Given the description of an element on the screen output the (x, y) to click on. 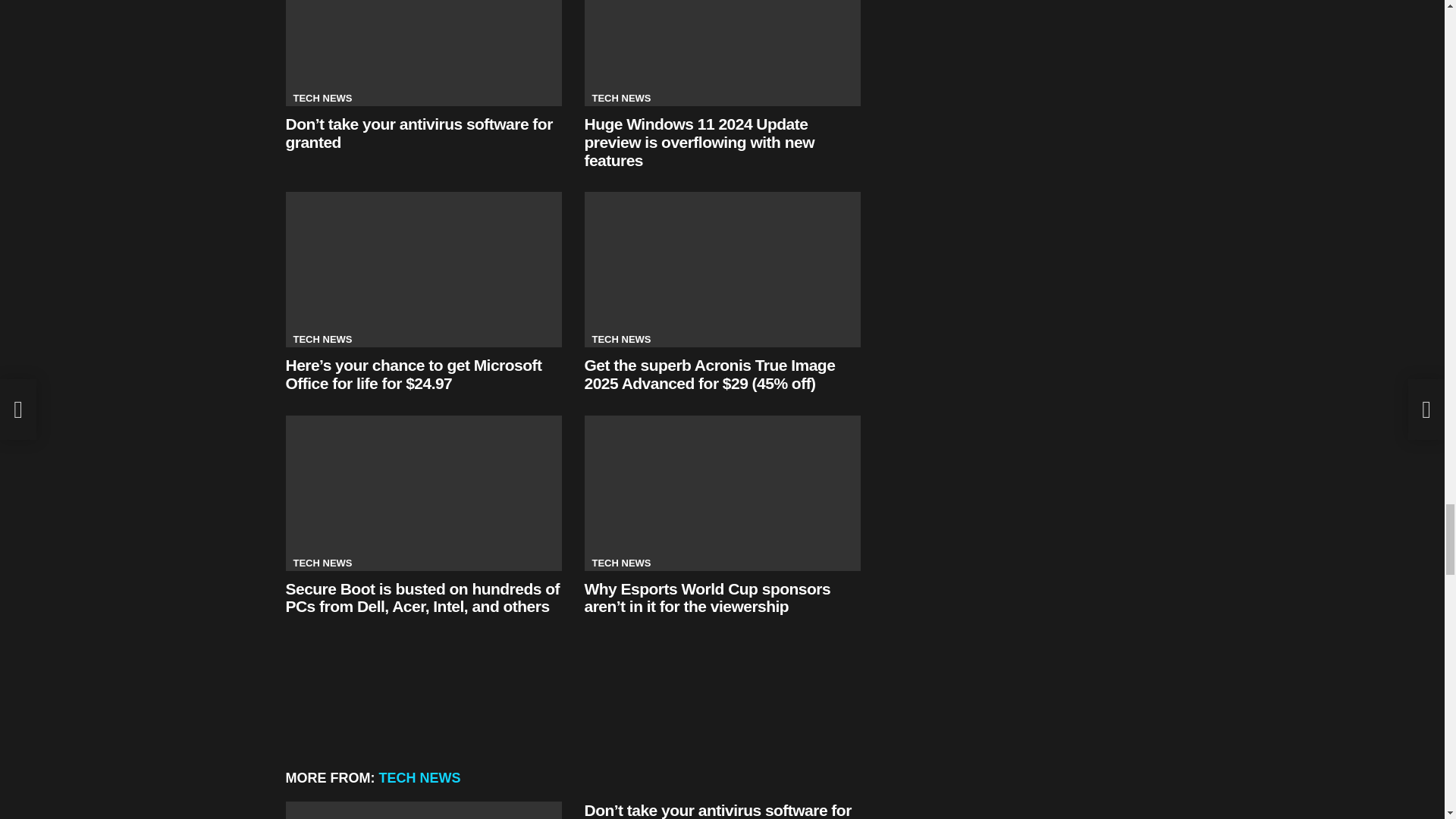
TECH NEWS (322, 339)
TECH NEWS (322, 98)
TECH NEWS (620, 98)
